Given the description of an element on the screen output the (x, y) to click on. 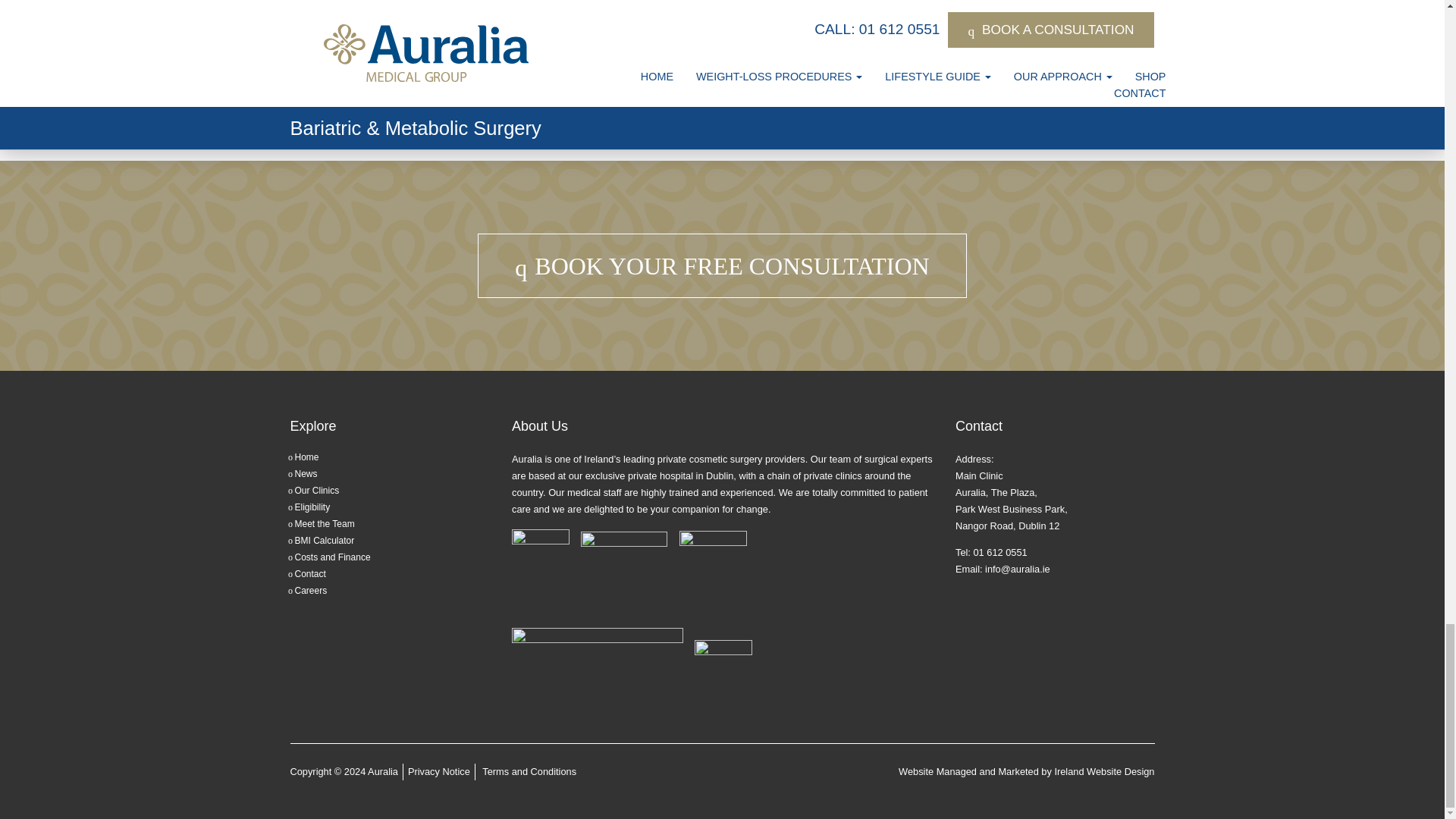
Ireland Website Design (1104, 771)
Call us (999, 552)
Terms and Conditions (528, 771)
Home (306, 457)
Contact (309, 573)
Careers (310, 590)
FIND OUT MORE (959, 97)
News (305, 473)
BMI Calculator (323, 540)
Meet the Team (323, 523)
